Given the description of an element on the screen output the (x, y) to click on. 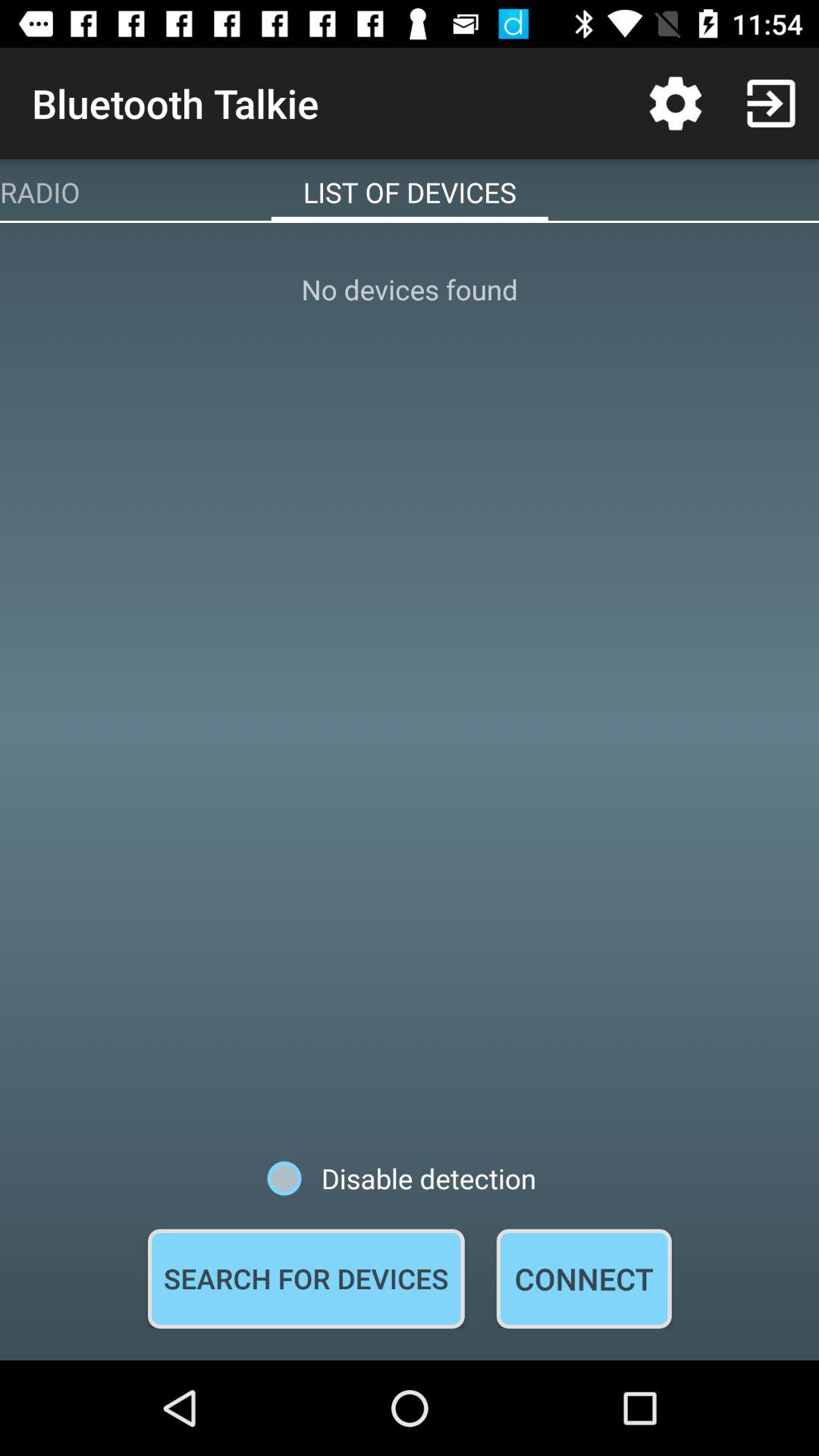
open the icon to the right of the bluetooth talkie (675, 103)
